Given the description of an element on the screen output the (x, y) to click on. 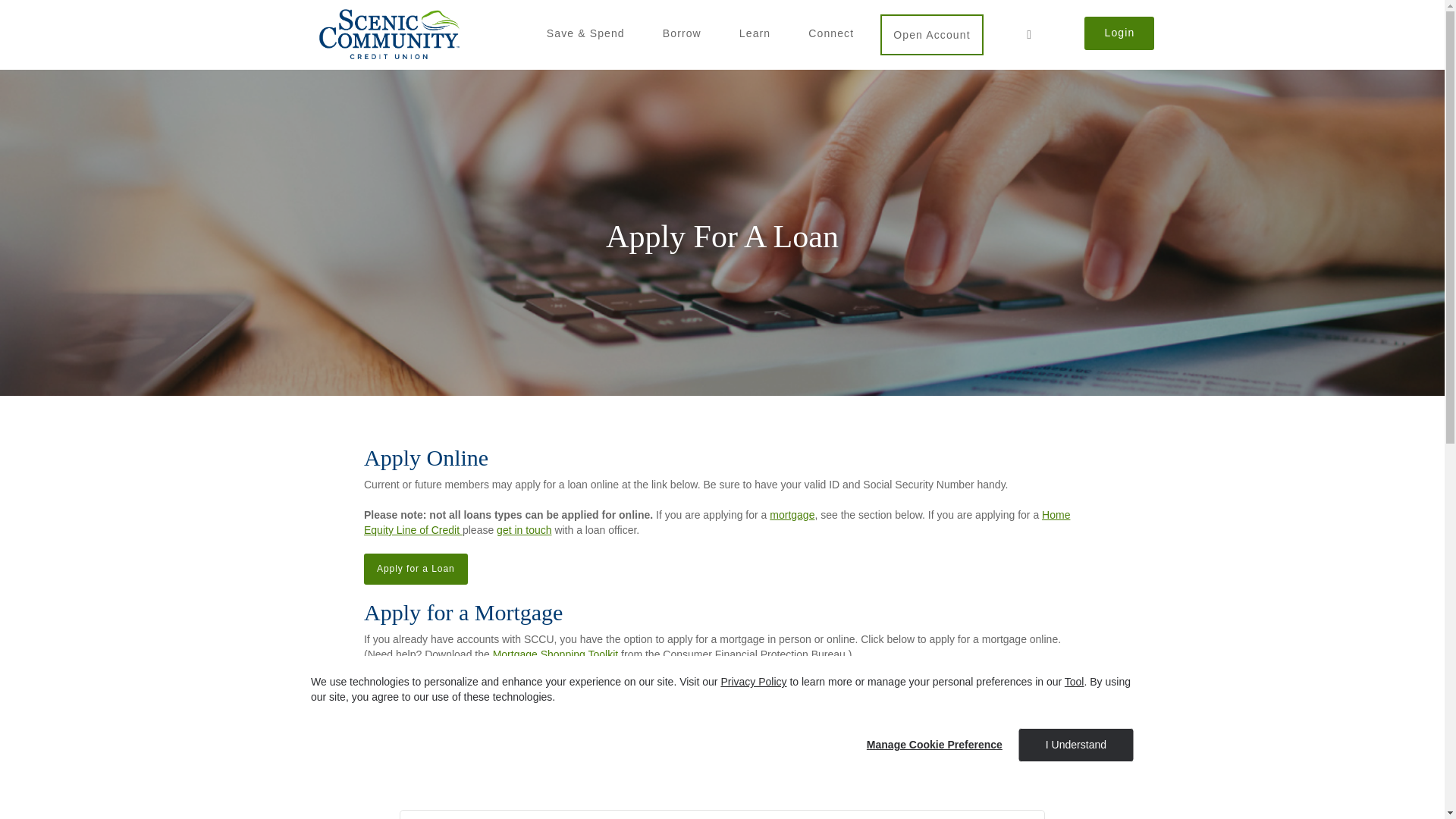
Scenic Community Credit Union, Hixson, TN (389, 33)
